Given the description of an element on the screen output the (x, y) to click on. 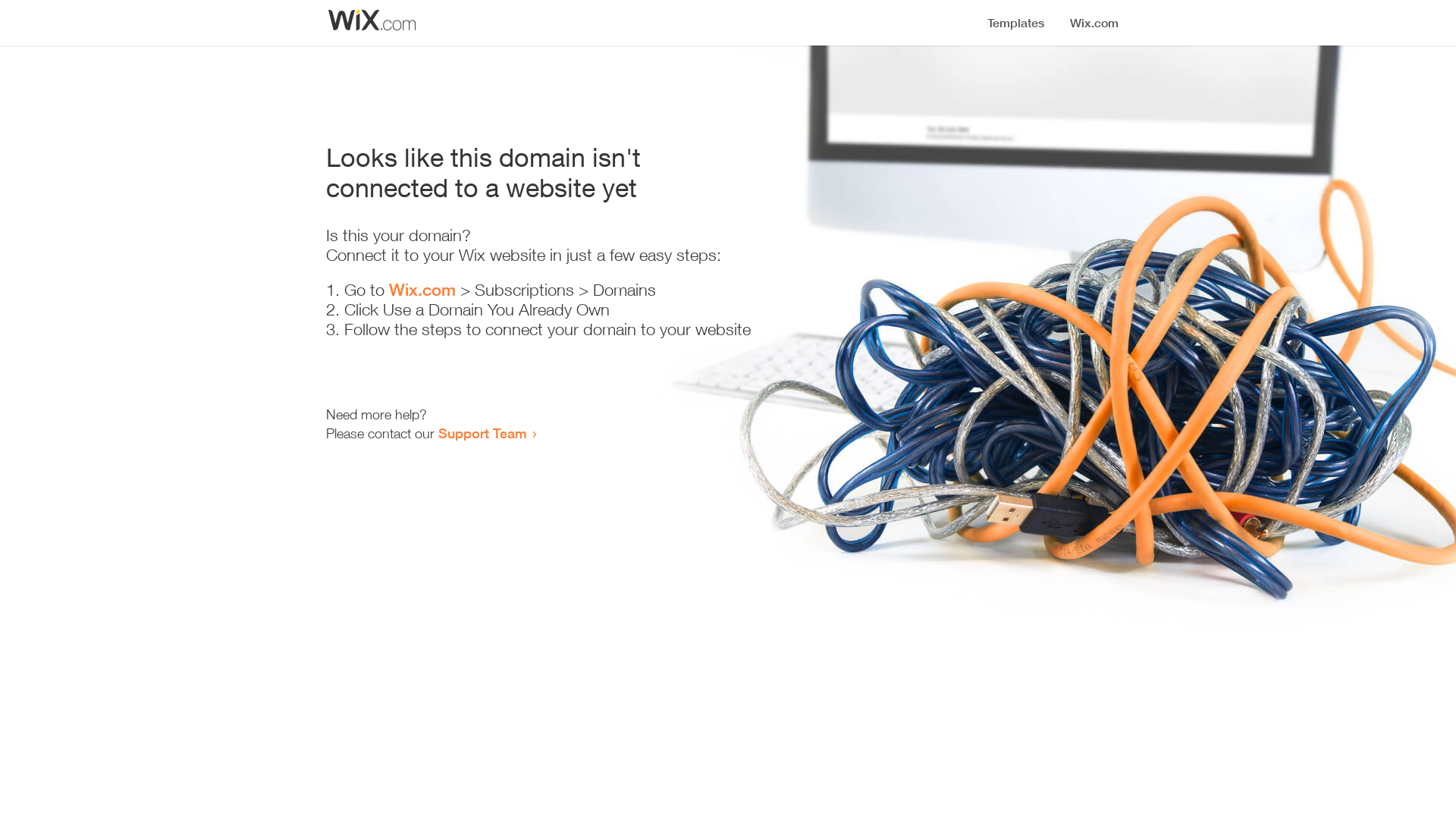
Wix.com Element type: text (422, 289)
Support Team Element type: text (482, 432)
